Given the description of an element on the screen output the (x, y) to click on. 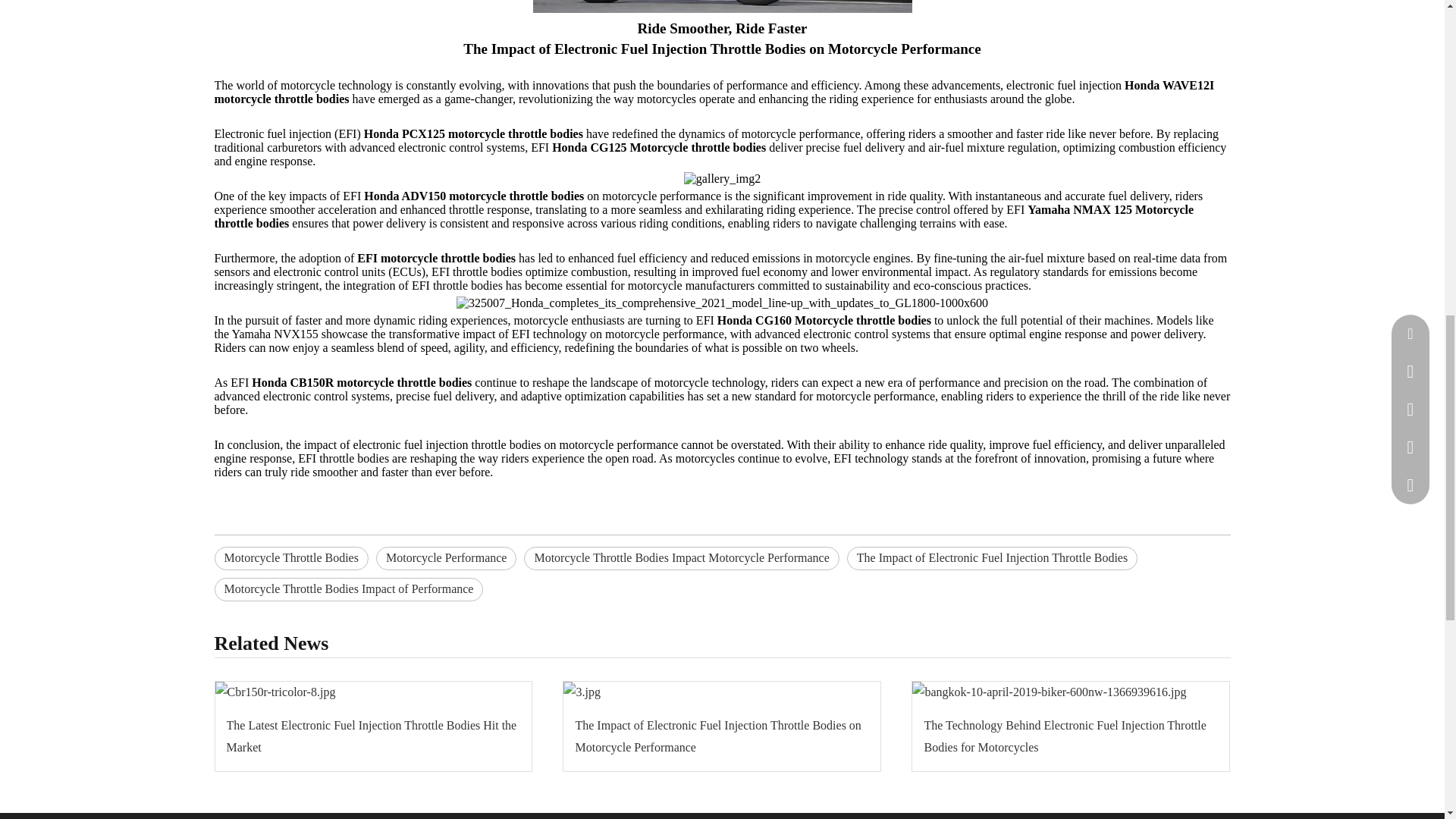
Motorcycle Throttle Bodies (291, 558)
Motorcycle Throttle Bodies Impact Motorcycle Performance (681, 558)
Motorcycle Performance (445, 558)
Motorcycle Throttle Bodies Impact of Performance (348, 589)
The Impact of Electronic Fuel Injection Throttle Bodies (992, 558)
